Given the description of an element on the screen output the (x, y) to click on. 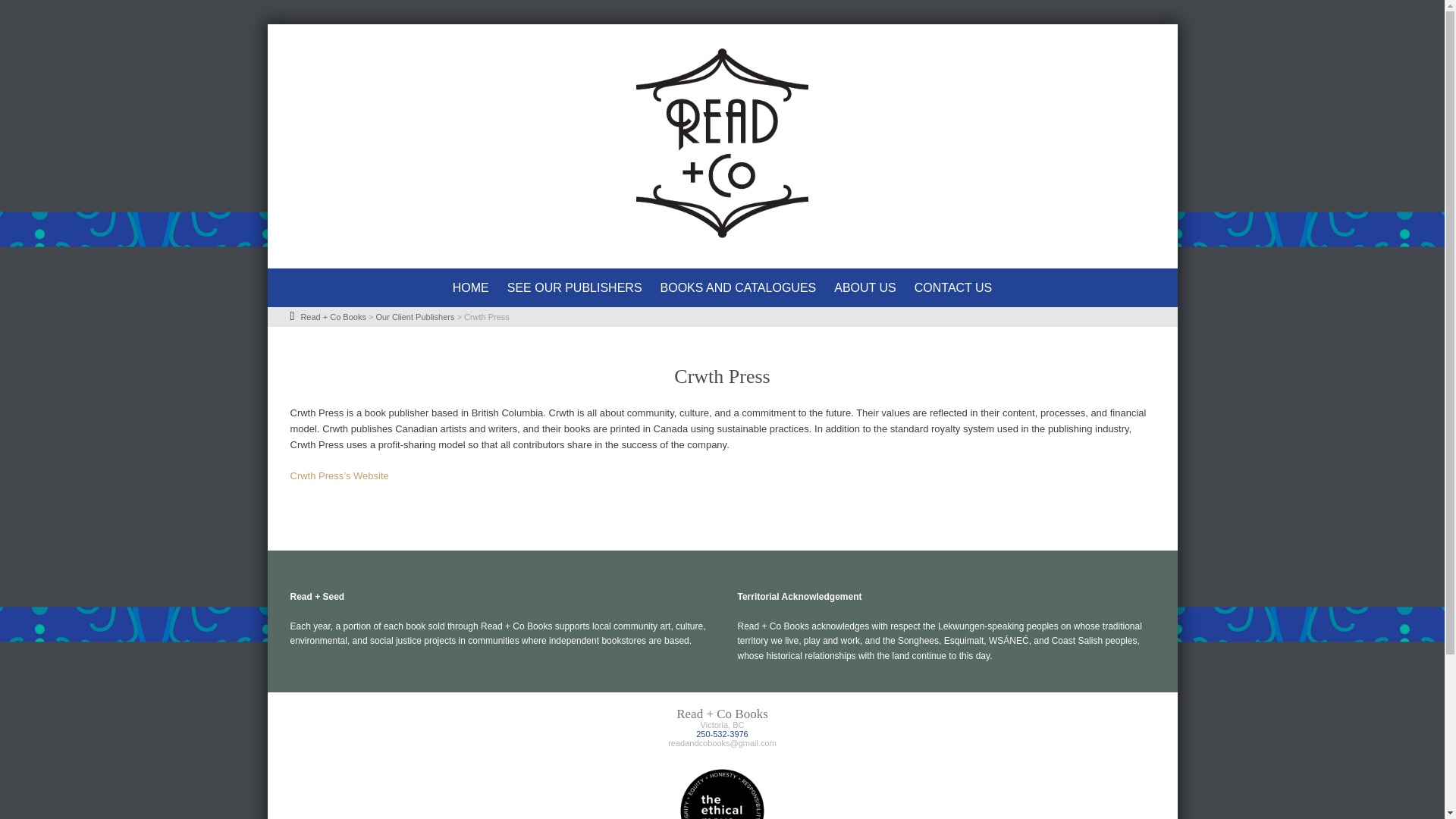
CONTACT US (953, 287)
Our Client Publishers (414, 316)
Victoria, BC (722, 724)
HOME (470, 287)
Go to Our Client Publishers. (414, 316)
ABOUT US (865, 287)
SEE OUR PUBLISHERS (573, 287)
BOOKS AND CATALOGUES (737, 287)
